Given the description of an element on the screen output the (x, y) to click on. 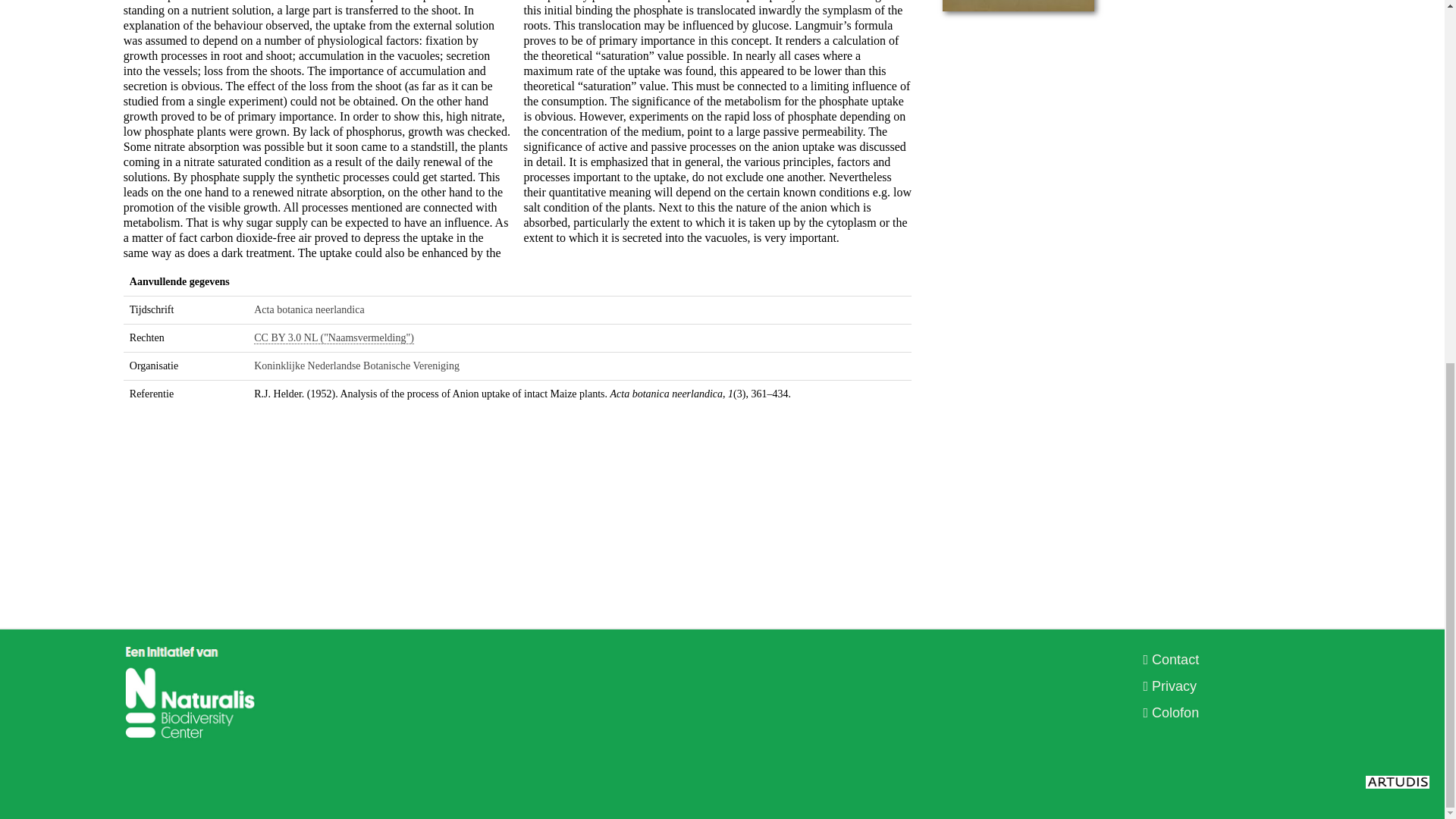
Acta botanica neerlandica (308, 309)
Privacy (1169, 685)
Contact (1170, 659)
Koninklijke Nederlandse Botanische Vereniging (356, 365)
